Given the description of an element on the screen output the (x, y) to click on. 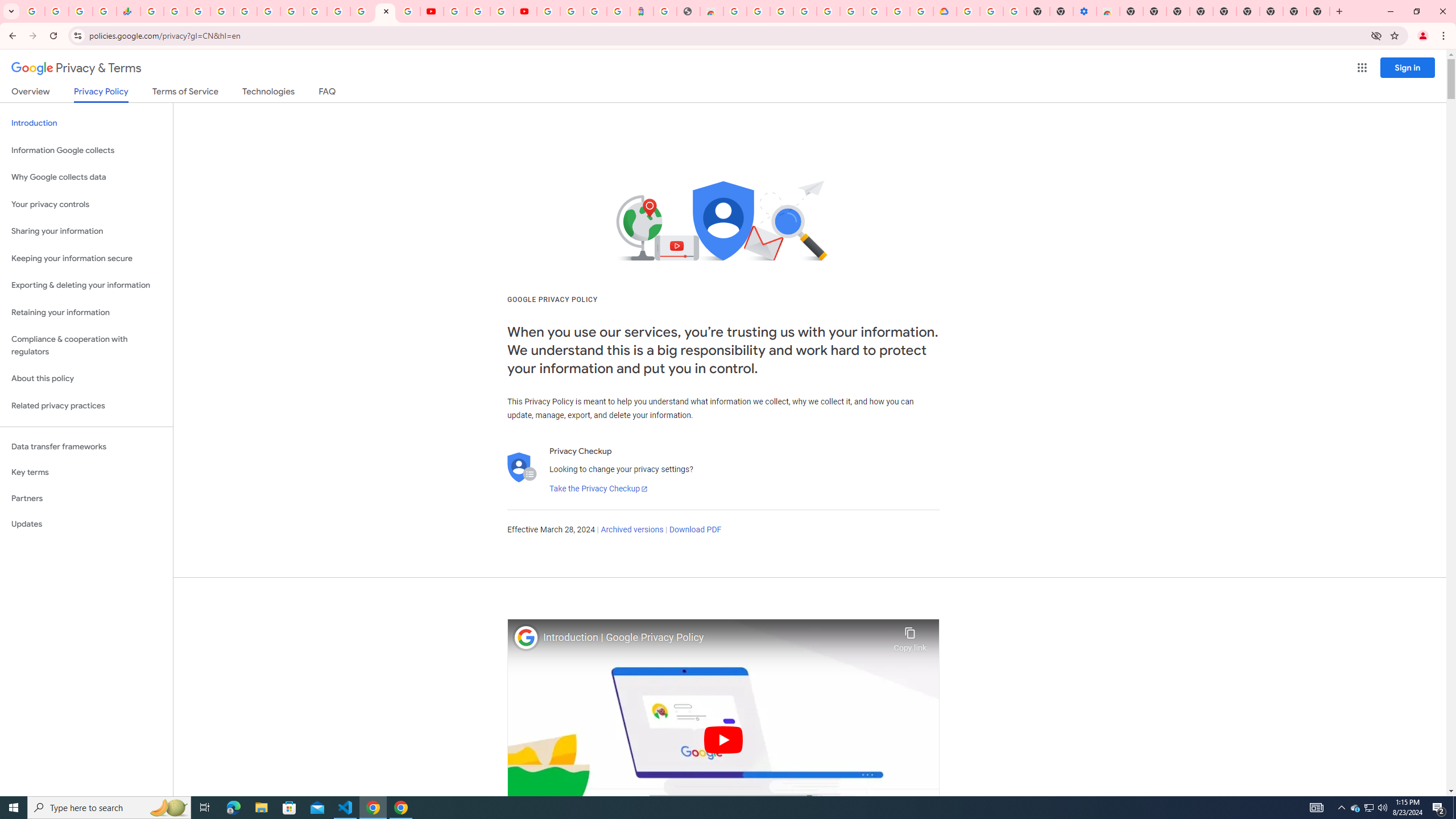
Privacy Checkup (408, 11)
Data transfer frameworks (86, 446)
Google Account Help (992, 11)
Photo image of Google (526, 636)
Android TV Policies and Guidelines - Transparency Center (291, 11)
Create your Google Account (897, 11)
New Tab (1131, 11)
Updates (86, 524)
Sign in - Google Accounts (571, 11)
